Given the description of an element on the screen output the (x, y) to click on. 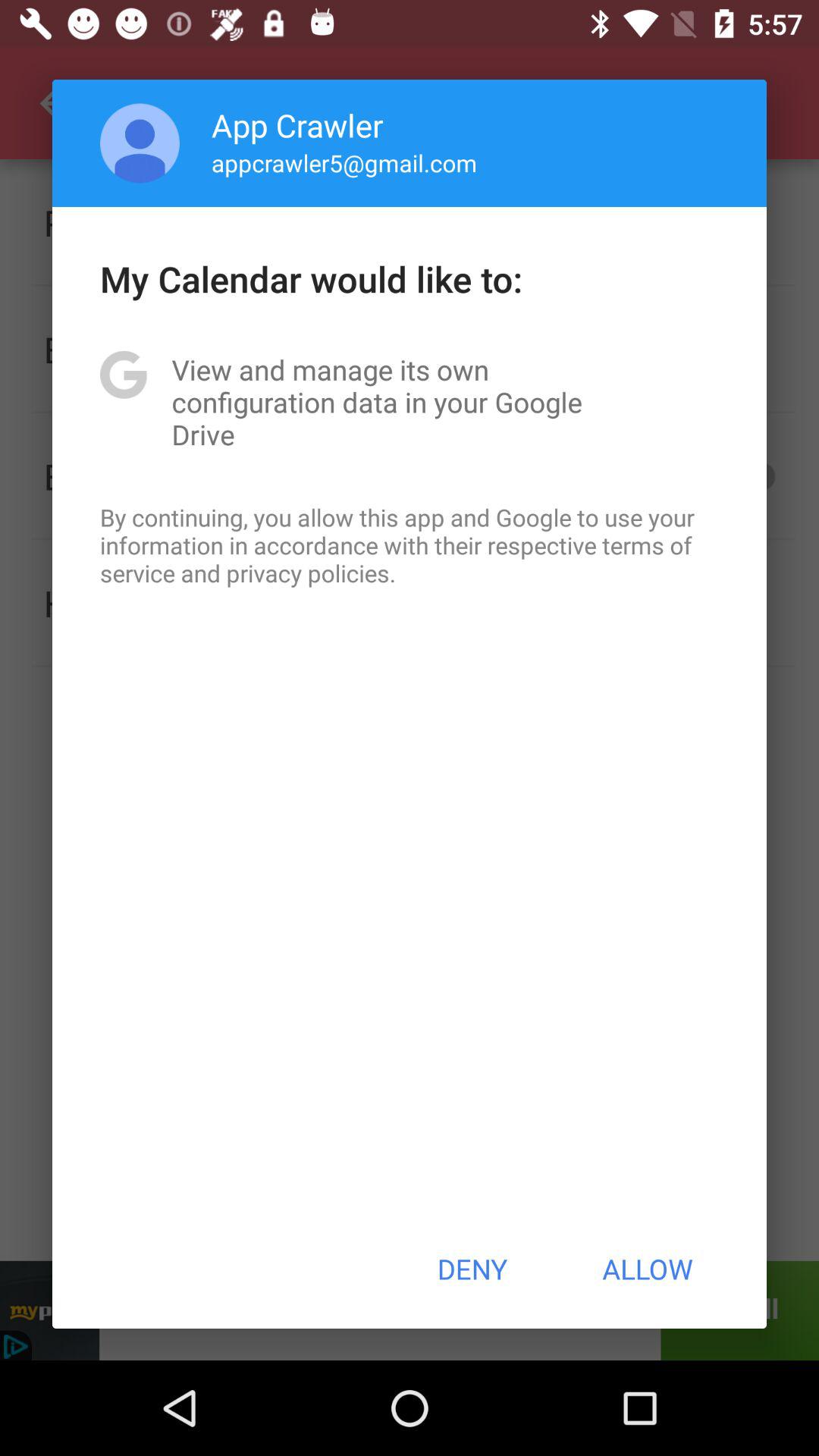
open the app crawler (297, 124)
